Given the description of an element on the screen output the (x, y) to click on. 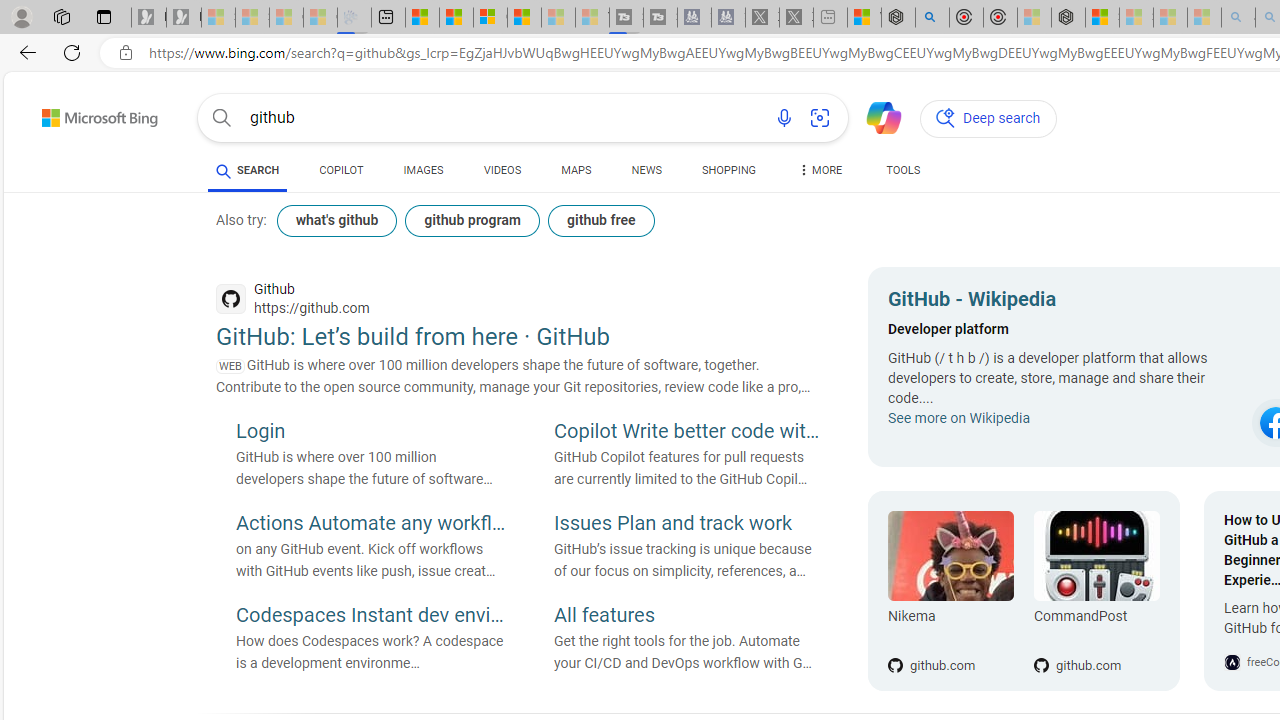
VIDEOS (501, 170)
Actions Automate any workflow (370, 525)
NEWS (646, 173)
CommandPost (1096, 619)
GitHub - Wikipedia (1064, 302)
Nikema (950, 619)
SEARCH (247, 170)
Search (221, 117)
what's github (336, 220)
Nikema Nikema github.com (950, 591)
CommandPost (1096, 556)
Nordace - Summer Adventures 2024 (898, 17)
Back to Bing search (87, 113)
Streaming Coverage | T3 - Sleeping (626, 17)
